Given the description of an element on the screen output the (x, y) to click on. 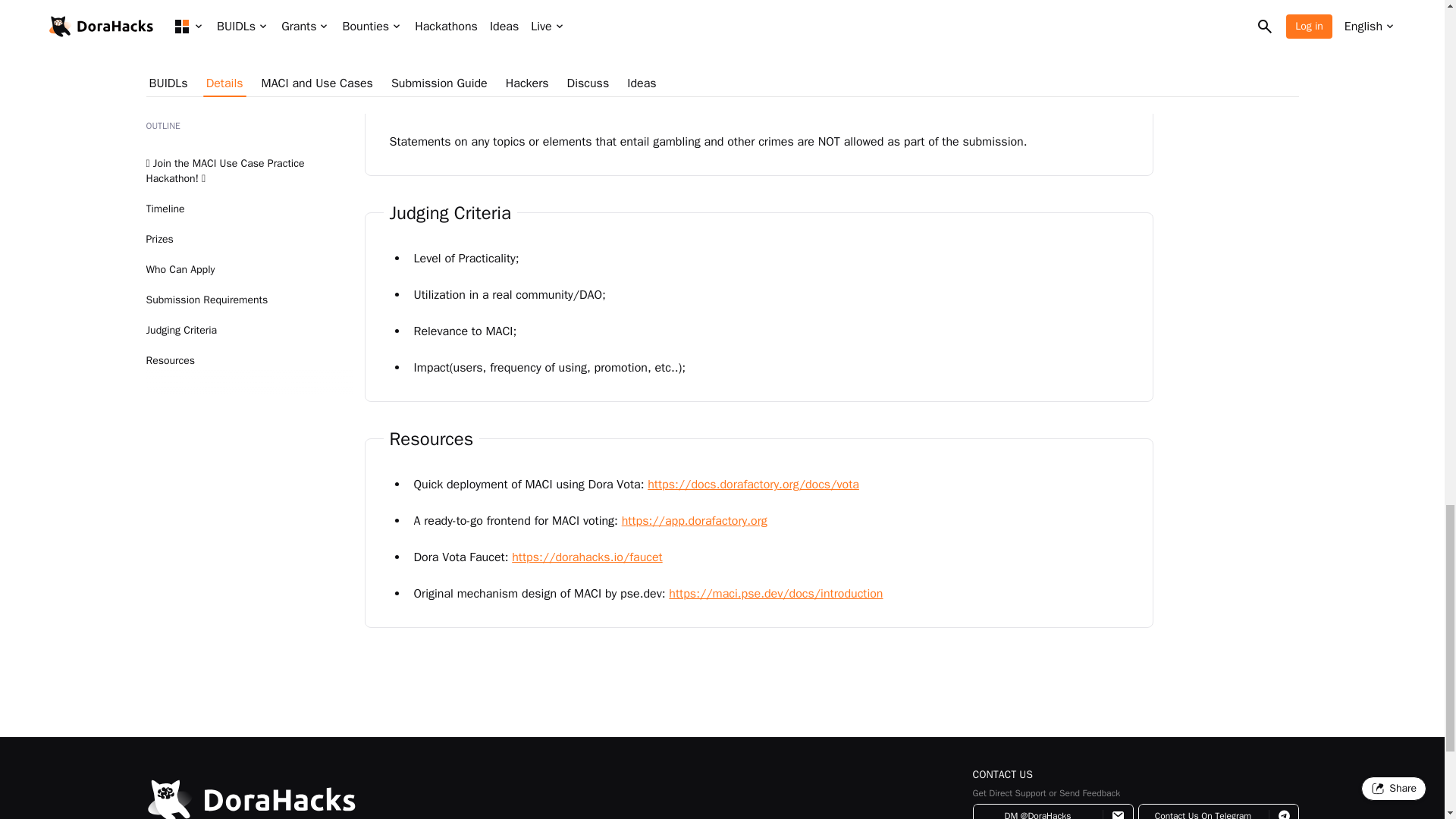
Contact Us On Telegram (1217, 811)
